Given the description of an element on the screen output the (x, y) to click on. 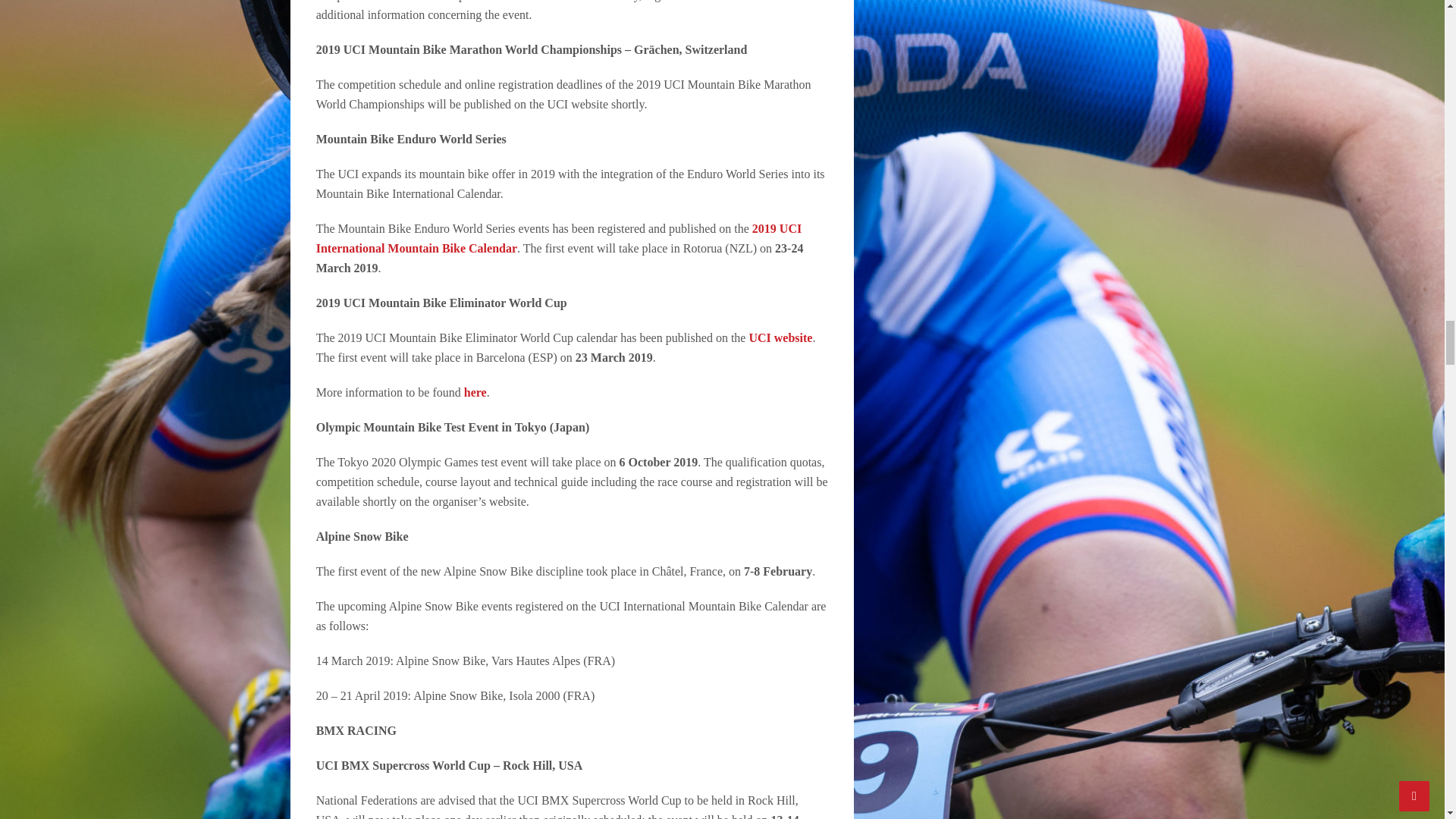
2019 UCI International Mountain Bike Calendar (558, 237)
UCI website (780, 337)
here (475, 391)
